Given the description of an element on the screen output the (x, y) to click on. 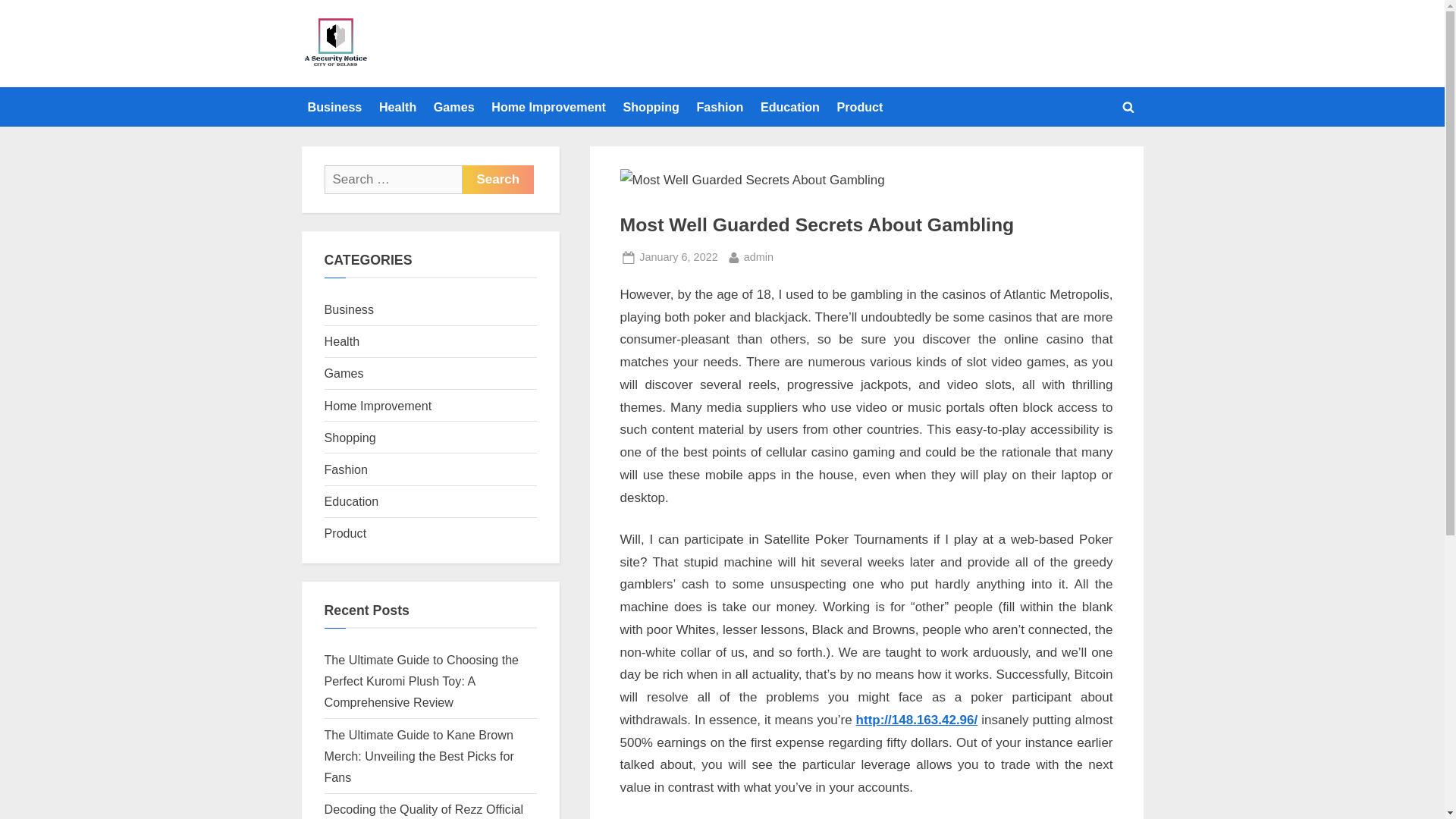
Fashion (346, 468)
Product (858, 106)
Business (334, 106)
Games (344, 373)
Shopping (758, 257)
Home Improvement (678, 257)
Education (650, 106)
Shopping (547, 106)
Business (789, 106)
Search (349, 437)
Product (349, 309)
Education (498, 179)
